Given the description of an element on the screen output the (x, y) to click on. 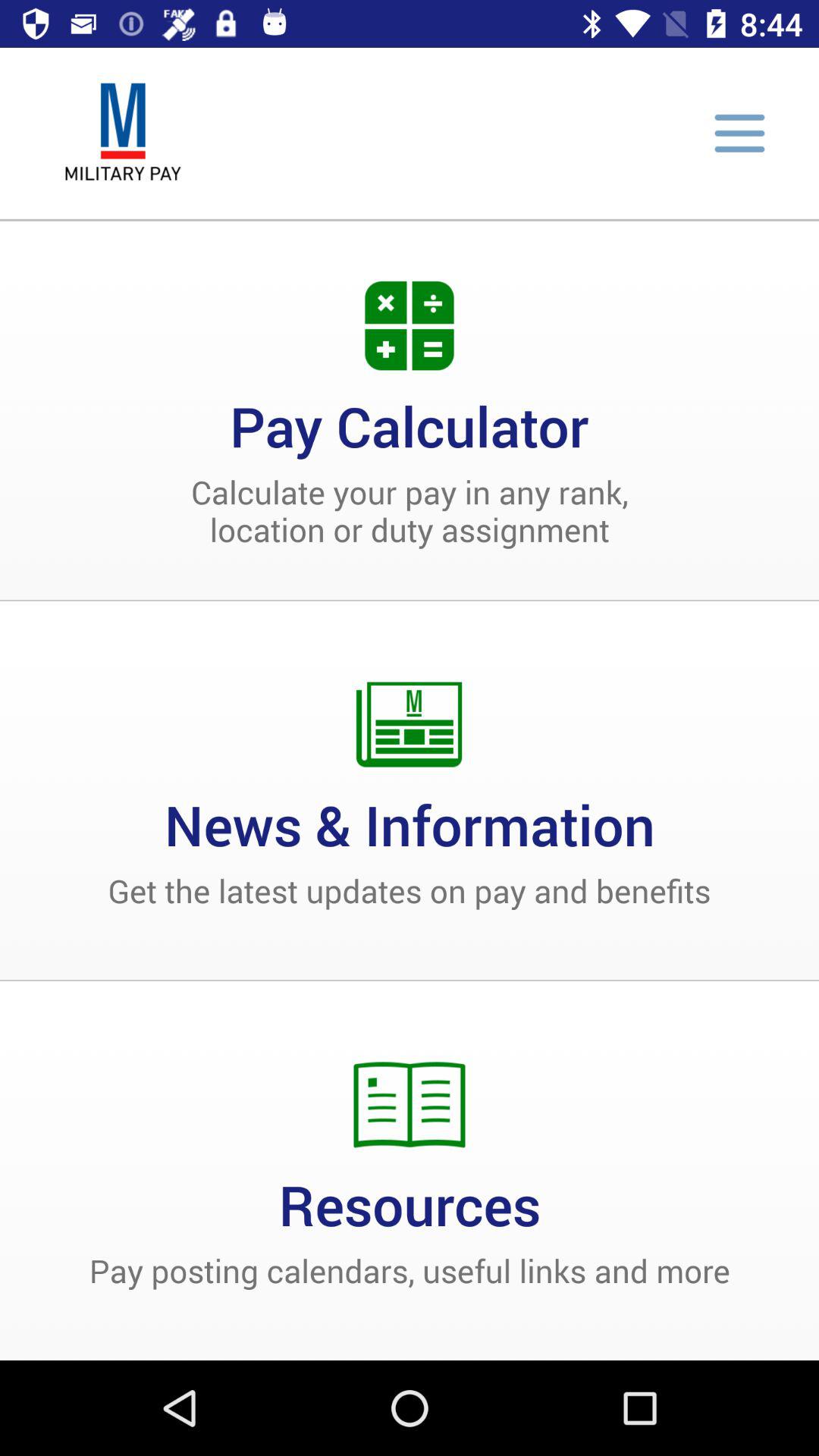
settings (739, 132)
